Given the description of an element on the screen output the (x, y) to click on. 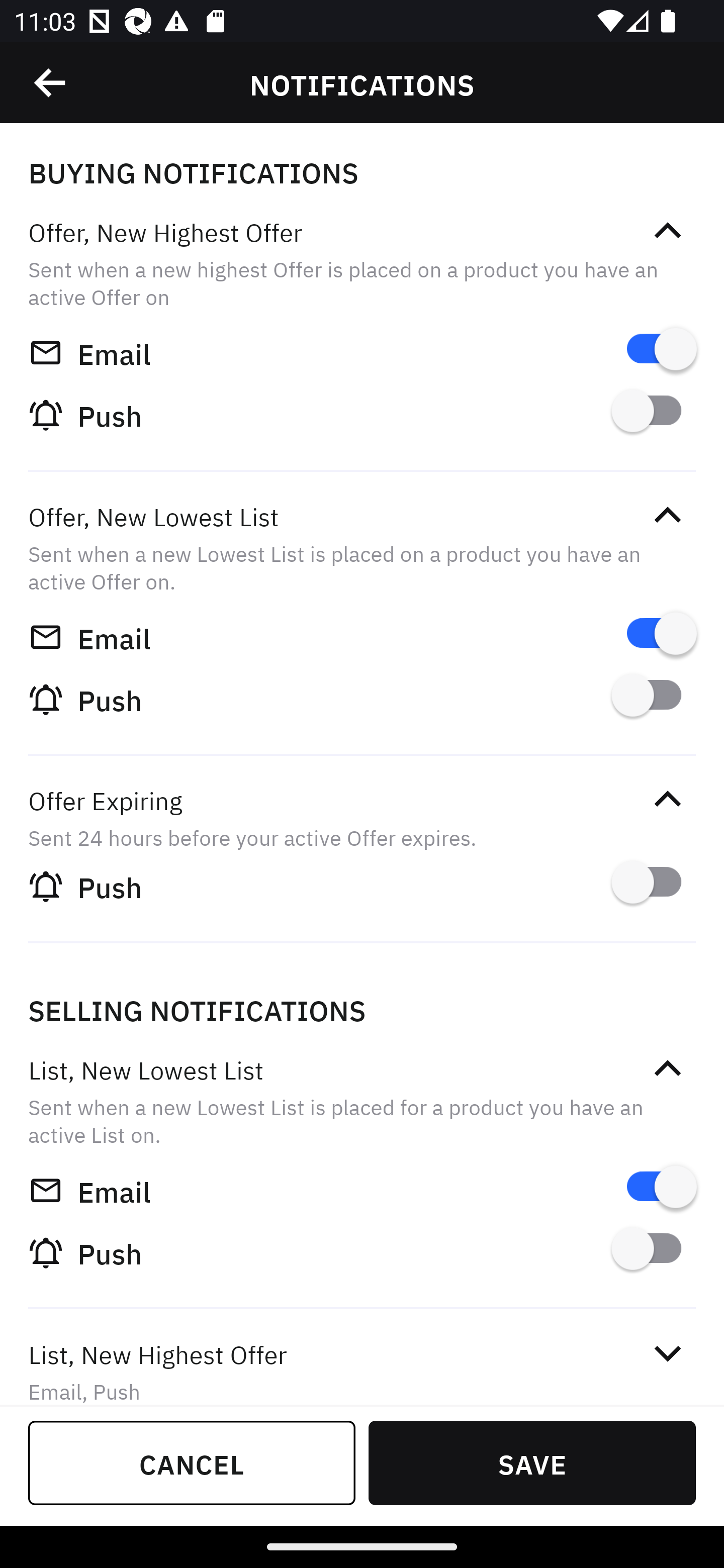
 (50, 83)
 (667, 231)
 (667, 514)
 (667, 799)
 (667, 1068)
List, New Highest Offer  Email, Push (361, 1358)
 (667, 1353)
CANCEL (191, 1462)
SAVE (531, 1462)
